Given the description of an element on the screen output the (x, y) to click on. 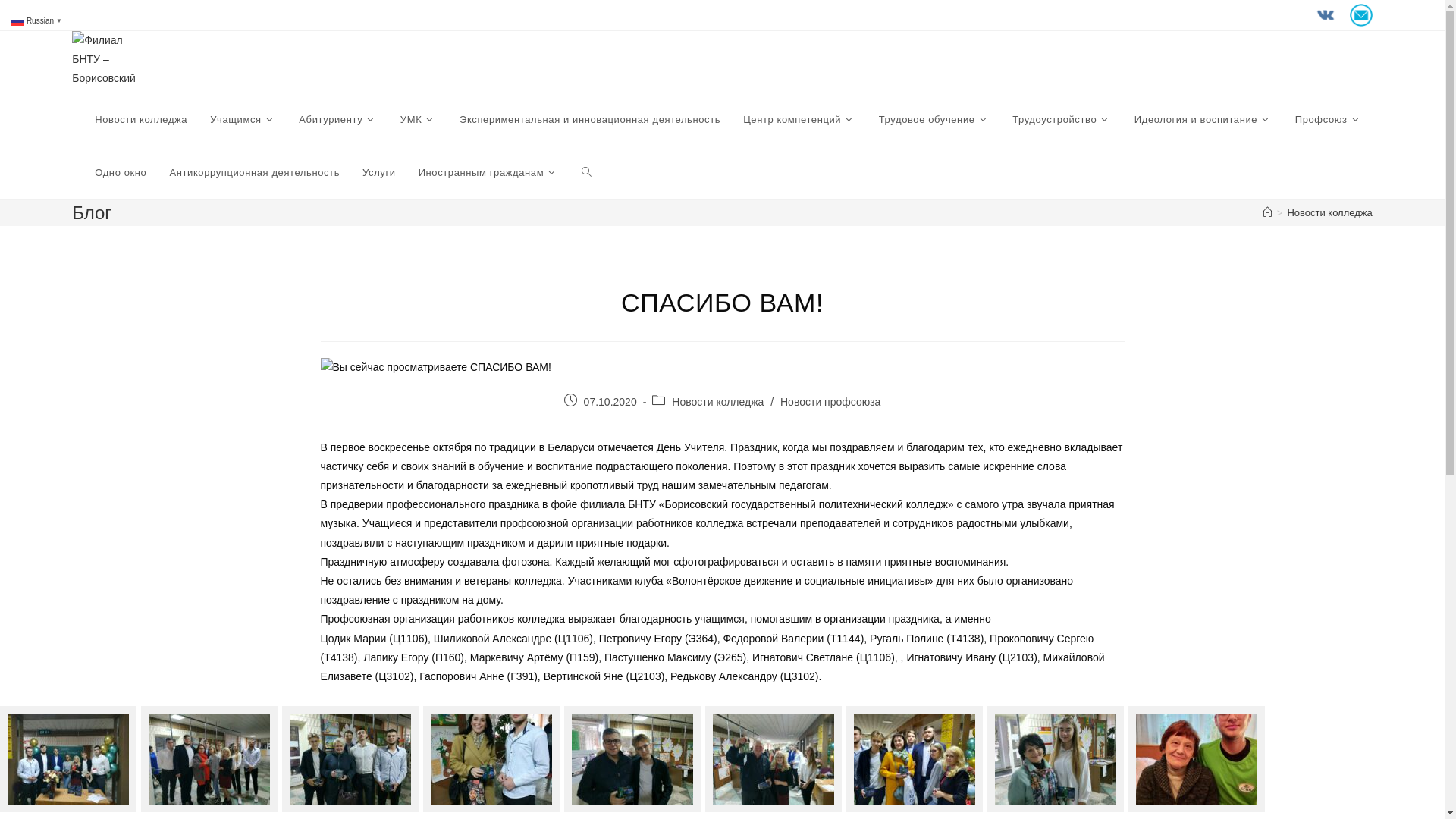
    Element type: text (1331, 14)
